Given the description of an element on the screen output the (x, y) to click on. 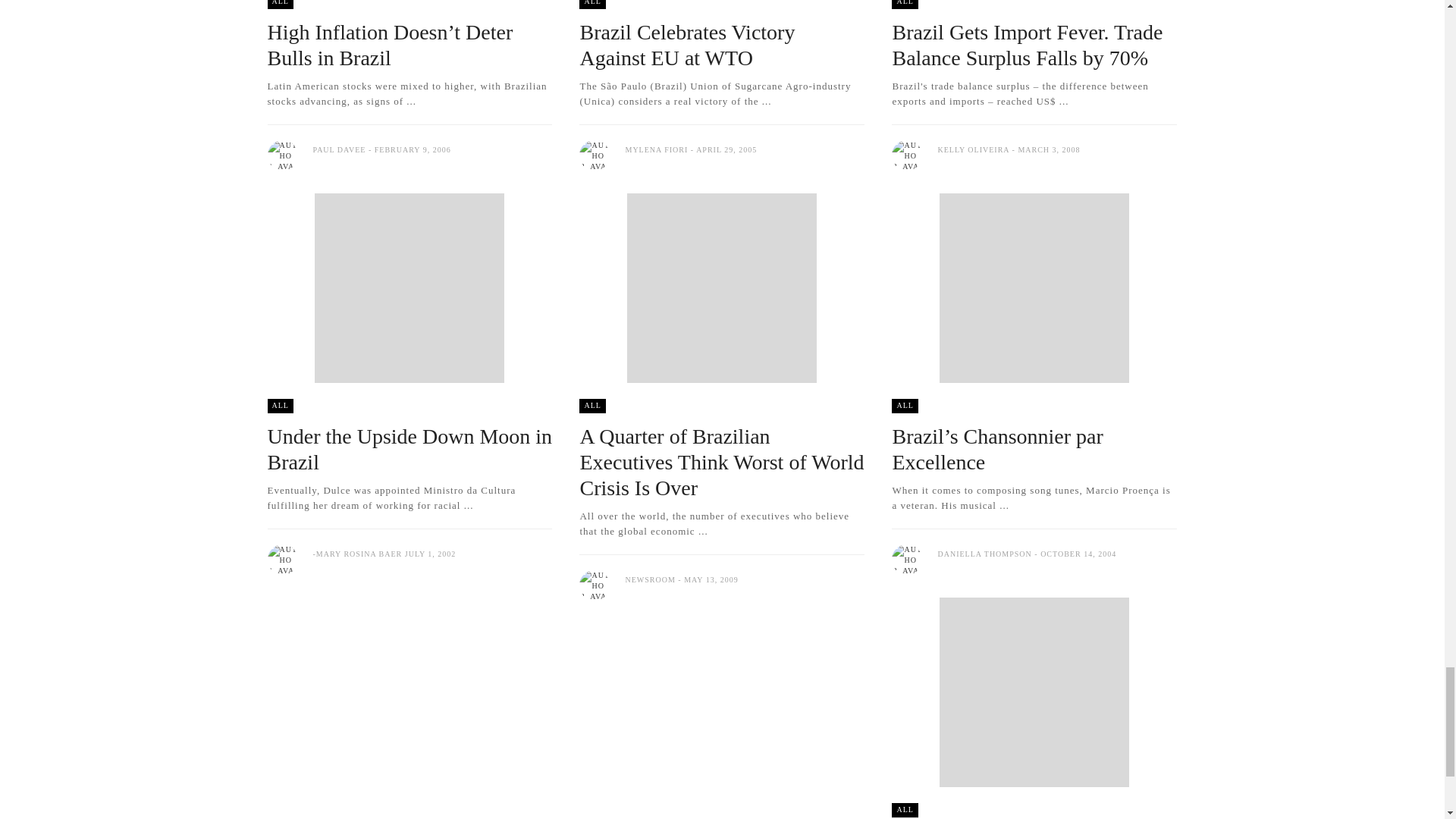
View all posts in 1 (592, 4)
View all posts in 1 (279, 4)
View all posts in 1 (279, 405)
View all posts in 1 (904, 4)
View all posts in 1 (904, 405)
View all posts in 1 (904, 810)
View all posts in 1 (592, 405)
